Given the description of an element on the screen output the (x, y) to click on. 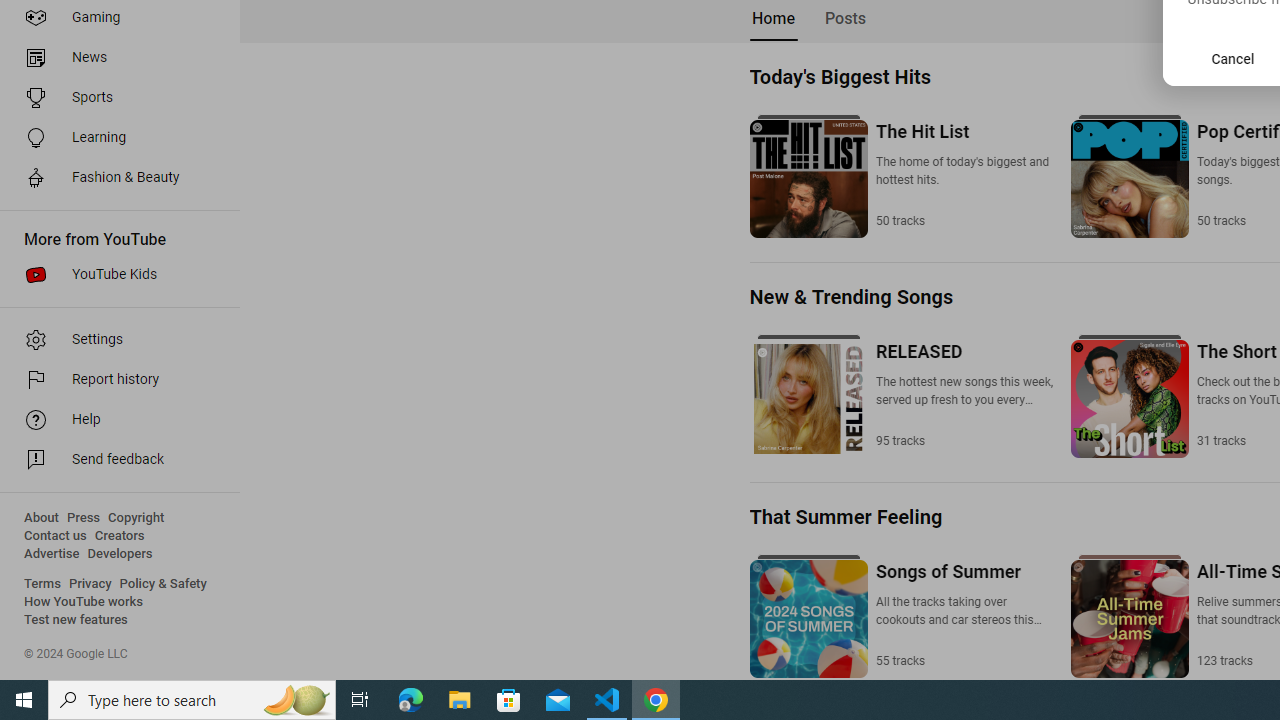
Report history (113, 380)
Cancel (1233, 59)
Today's Biggest Hits (839, 76)
Learning (113, 137)
Press (83, 518)
New & Trending Songs (850, 296)
